Given the description of an element on the screen output the (x, y) to click on. 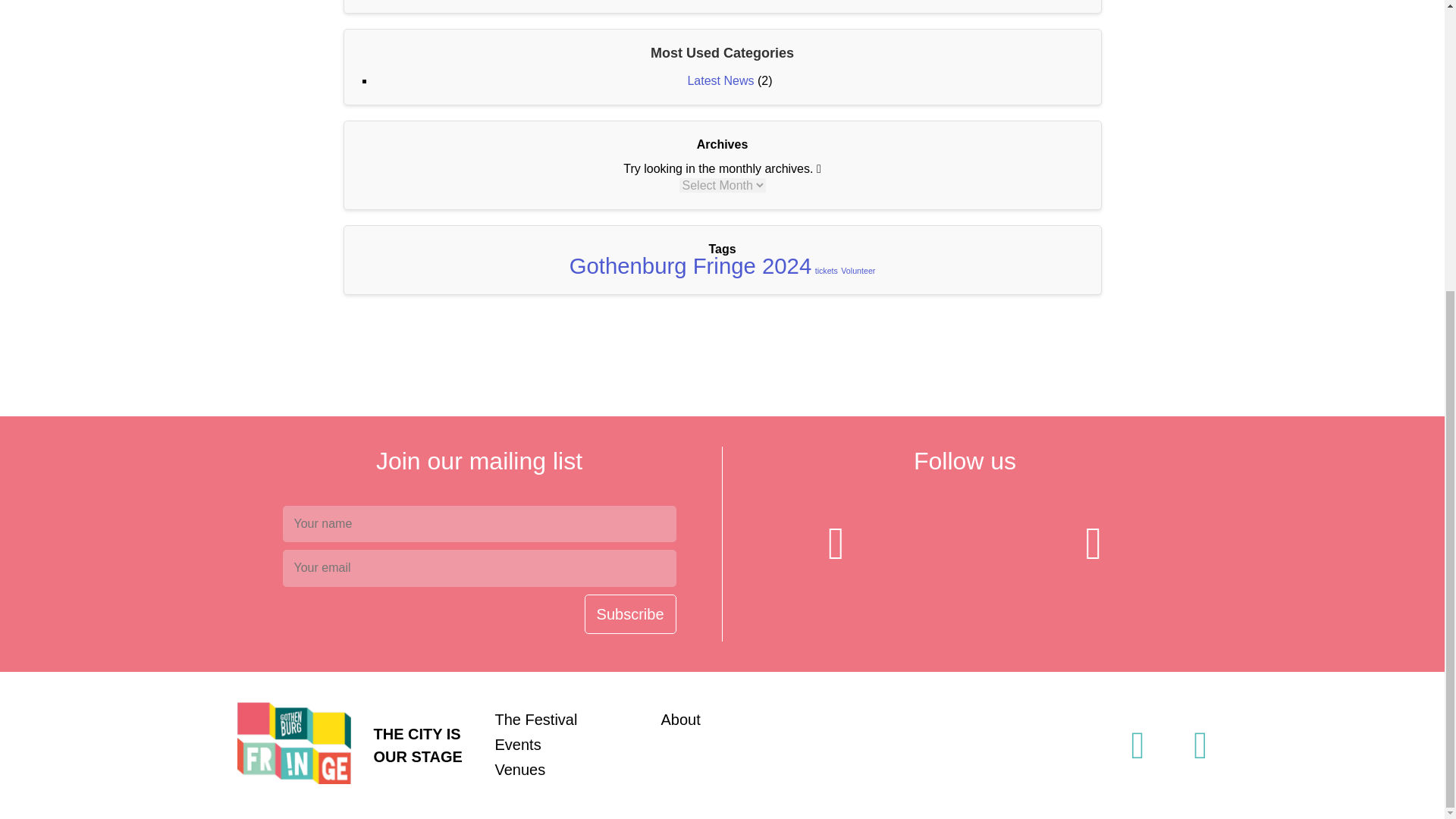
tickets (826, 270)
Volunteer (858, 270)
Subscribe (631, 613)
Latest News (720, 80)
Events (517, 744)
Gothenburg Fringe 2024 (690, 265)
Venues (519, 769)
Subscribe (631, 613)
The Festival (535, 719)
About (680, 719)
